Given the description of an element on the screen output the (x, y) to click on. 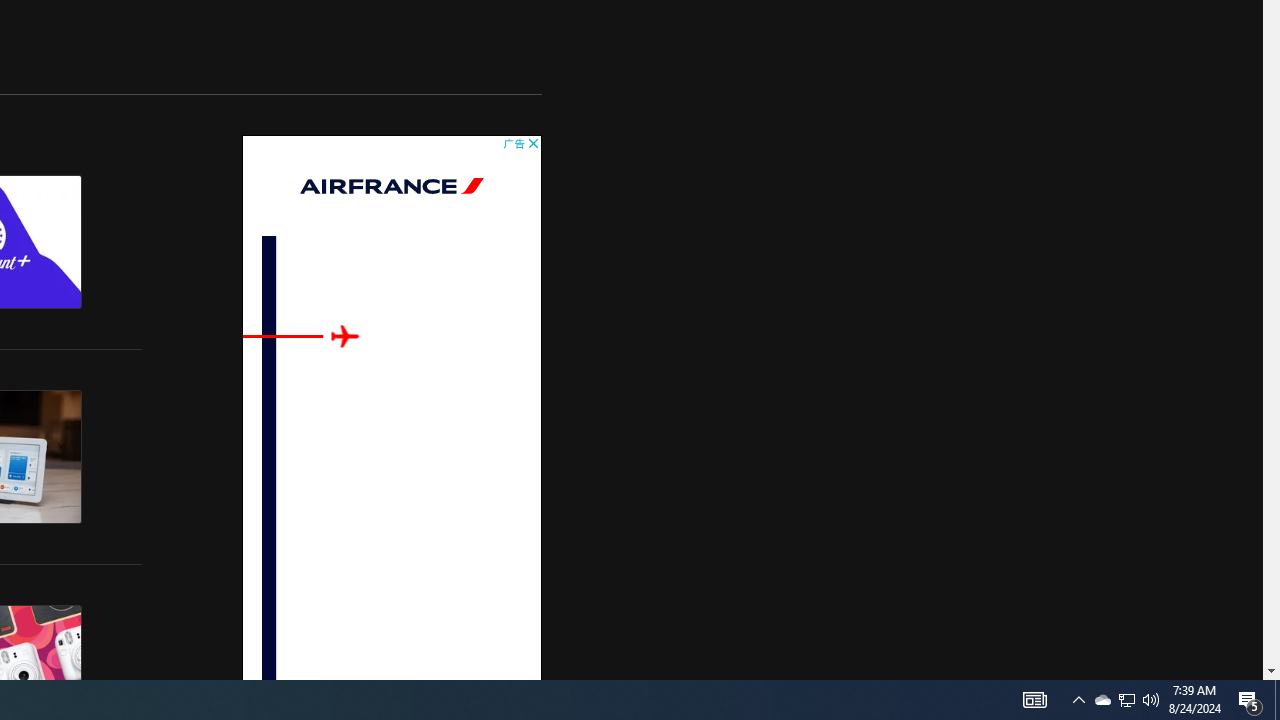
AutomationID: cbb (532, 143)
